Given the description of an element on the screen output the (x, y) to click on. 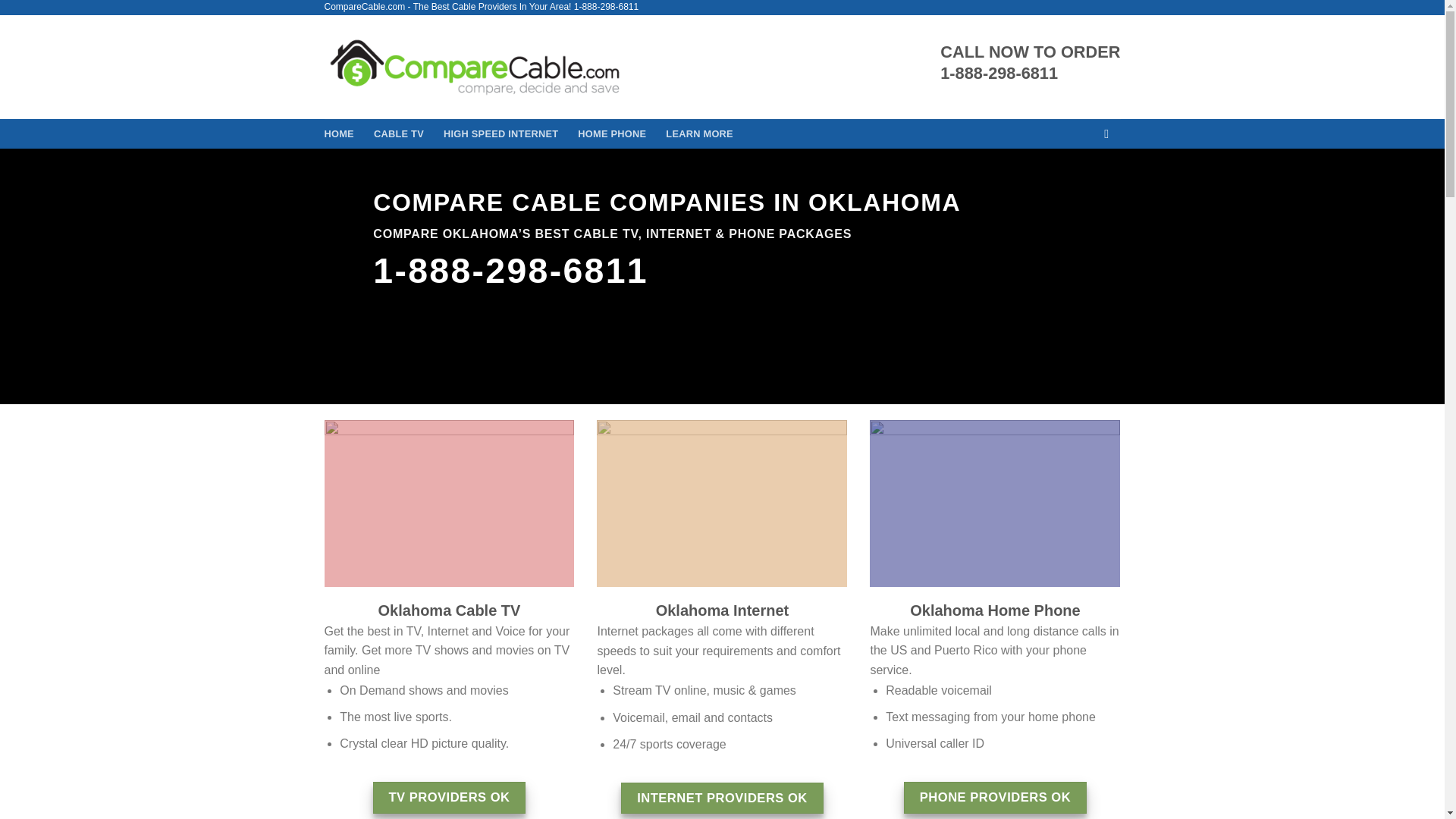
PHONE PROVIDERS OK (995, 798)
CABLE TV (398, 133)
HOME PHONE (612, 133)
Follow on Facebook (1109, 133)
LEARN MORE (699, 133)
HIGH SPEED INTERNET (500, 133)
HOME (338, 133)
CompareCable.com - Compare Cable TV Providers In My Area (475, 66)
TV PROVIDERS OK (448, 798)
INTERNET PROVIDERS OK (721, 798)
